Given the description of an element on the screen output the (x, y) to click on. 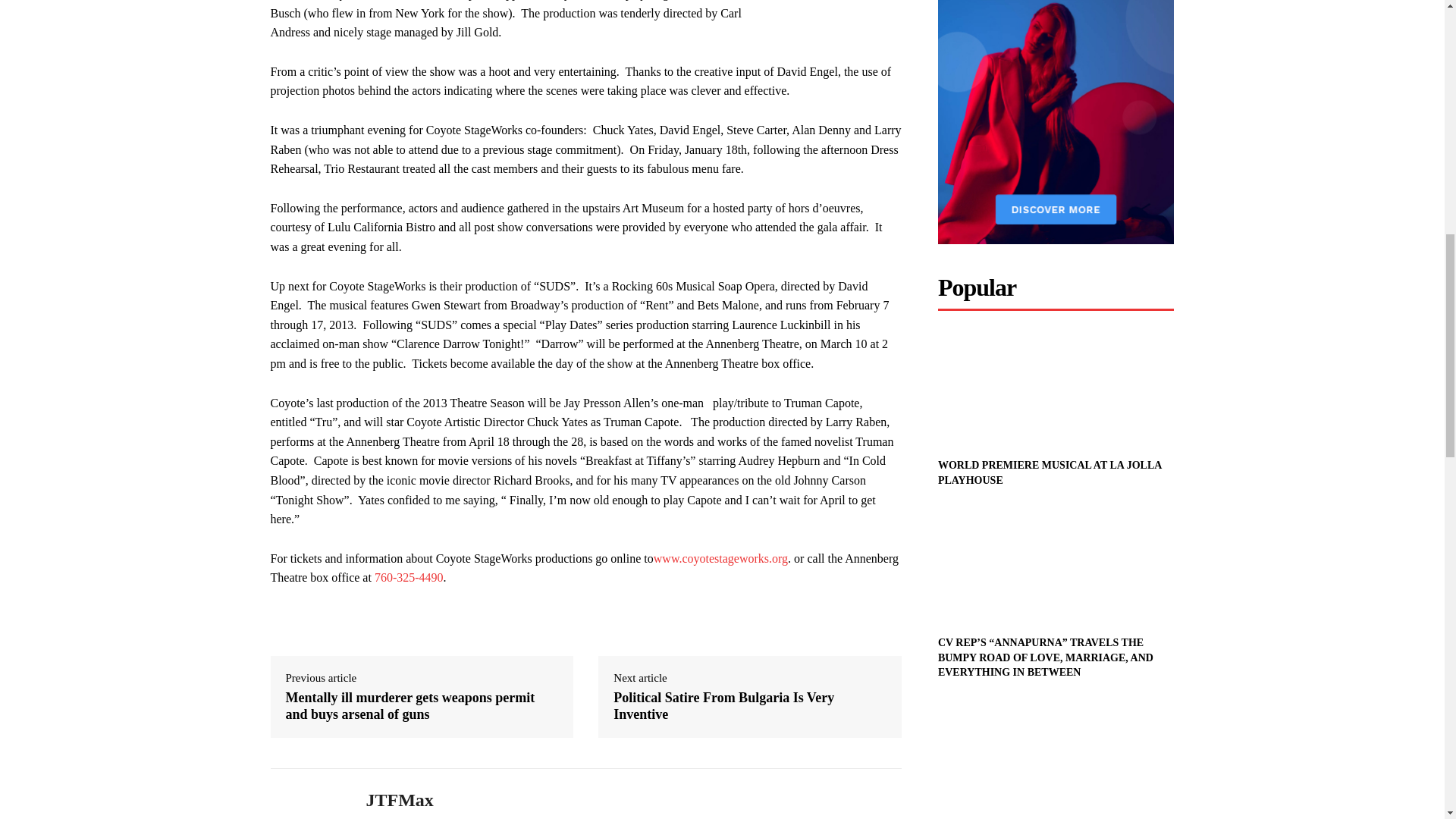
JTFMax (398, 800)
JTFMax (305, 800)
WORLD PREMIERE MUSICAL AT LA JOLLA PLAYHOUSE (1049, 472)
760-325-4490 (409, 576)
Political Satire From Bulgaria Is Very Inventive (749, 706)
www.coyotestageworks.org (720, 558)
WORLD PREMIERE MUSICAL AT LA JOLLA PLAYHOUSE (1049, 472)
WORLD PREMIERE MUSICAL AT LA JOLLA PLAYHOUSE (1055, 388)
